Given the description of an element on the screen output the (x, y) to click on. 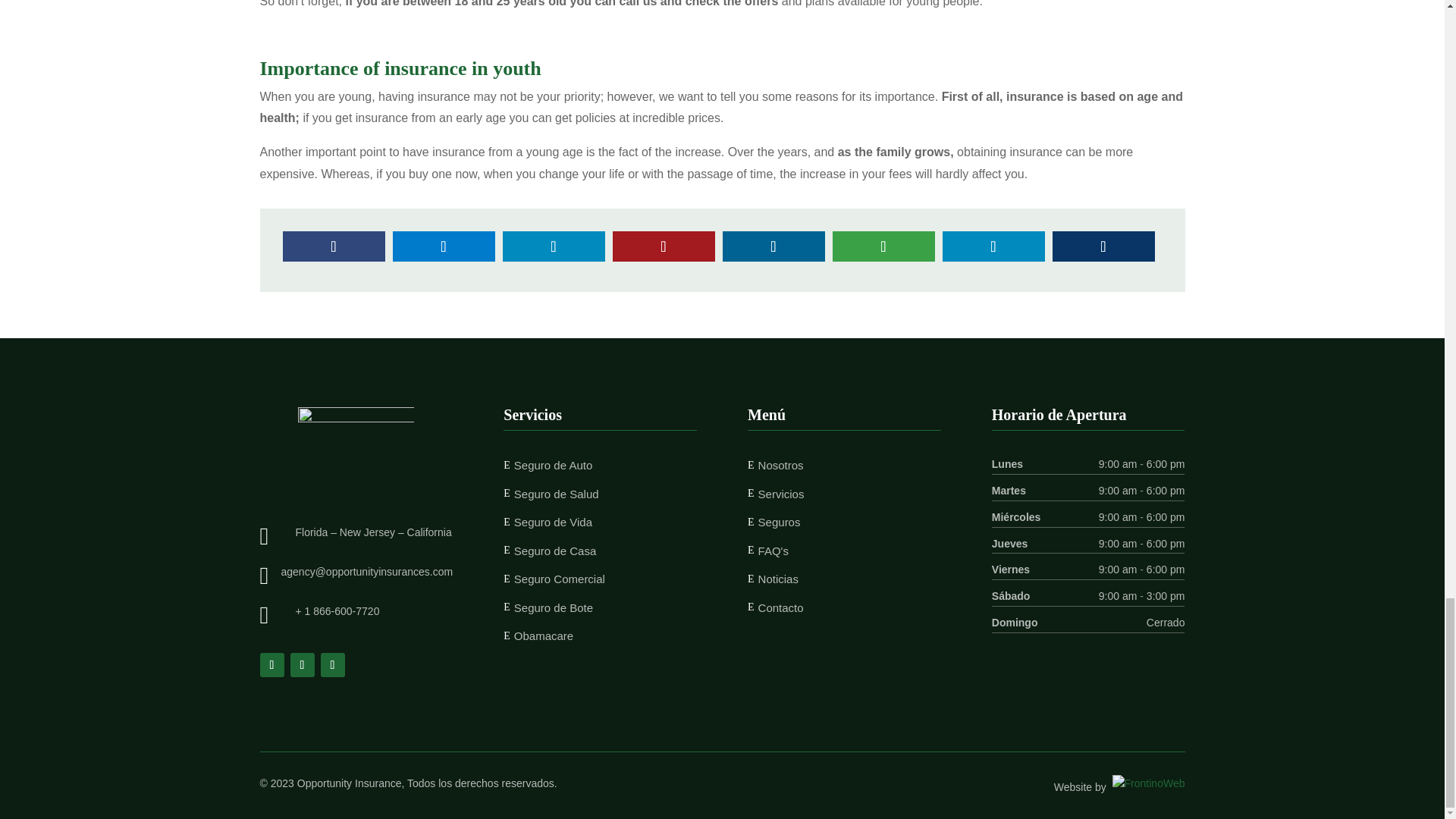
Follow on Instagram (301, 664)
Follow on Google (331, 664)
Follow on Facebook (271, 664)
